Given the description of an element on the screen output the (x, y) to click on. 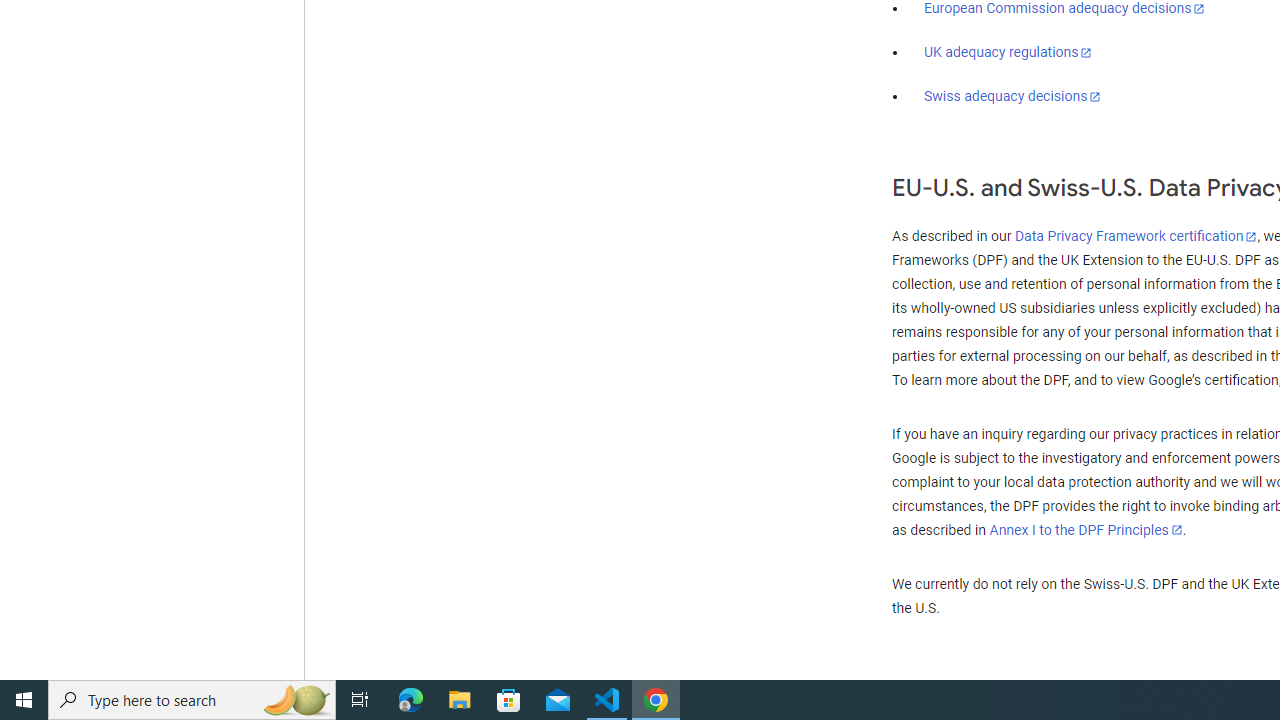
Annex I to the DPF Principles (1085, 530)
UK adequacy regulations (1008, 52)
Swiss adequacy decisions (1013, 96)
Data Privacy Framework certification (1135, 237)
European Commission adequacy decisions (1064, 9)
